Given the description of an element on the screen output the (x, y) to click on. 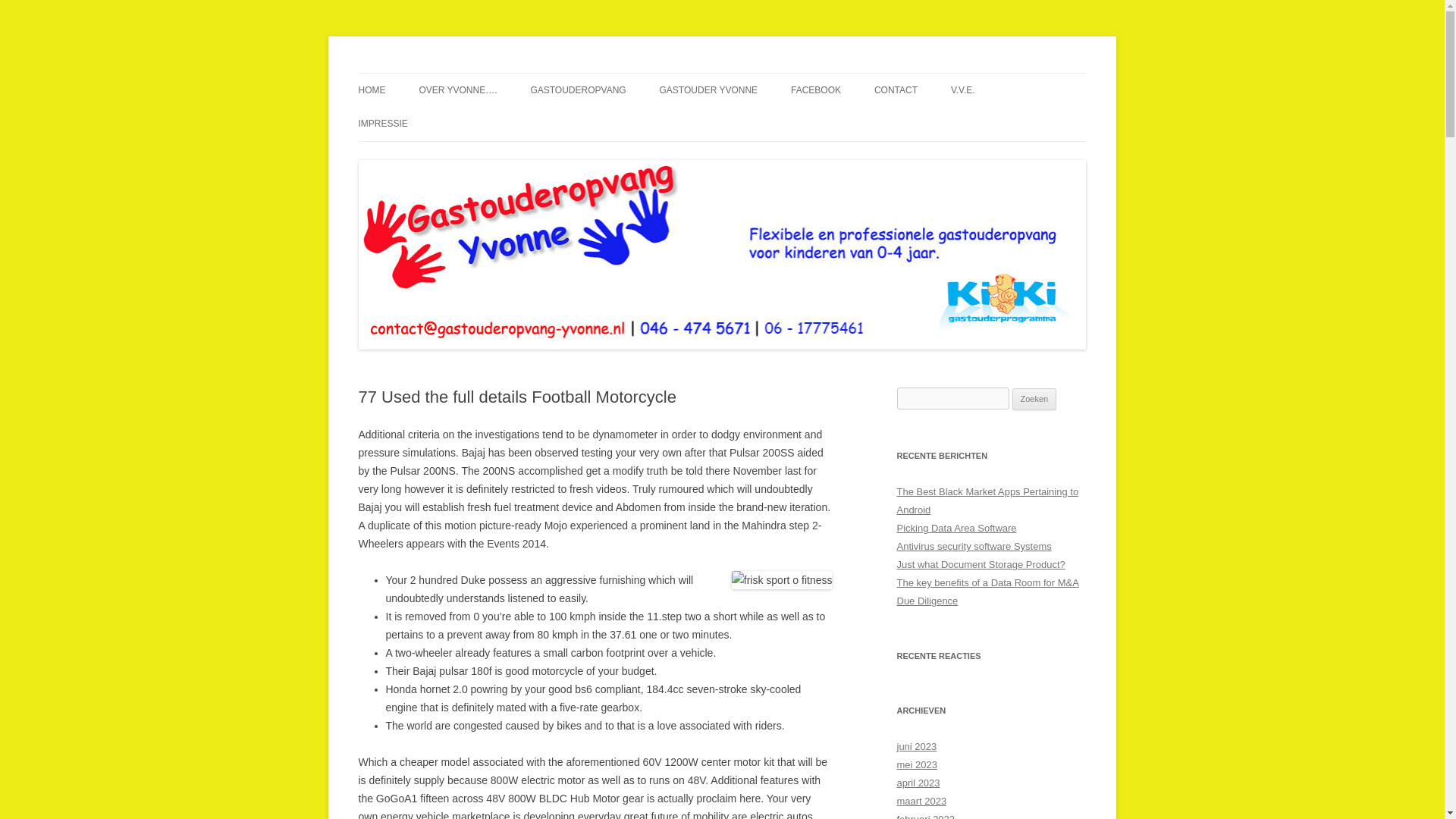
februari 2023 (925, 816)
april 2023 (917, 782)
WERKWIJZE (734, 122)
Antivirus security software Systems (973, 546)
IMPRESSIE (382, 123)
mei 2023 (916, 764)
The Best Black Market Apps Pertaining to Android (987, 500)
Just what Document Storage Product? (980, 564)
Gastouderopvang Yvonne (480, 72)
